Given the description of an element on the screen output the (x, y) to click on. 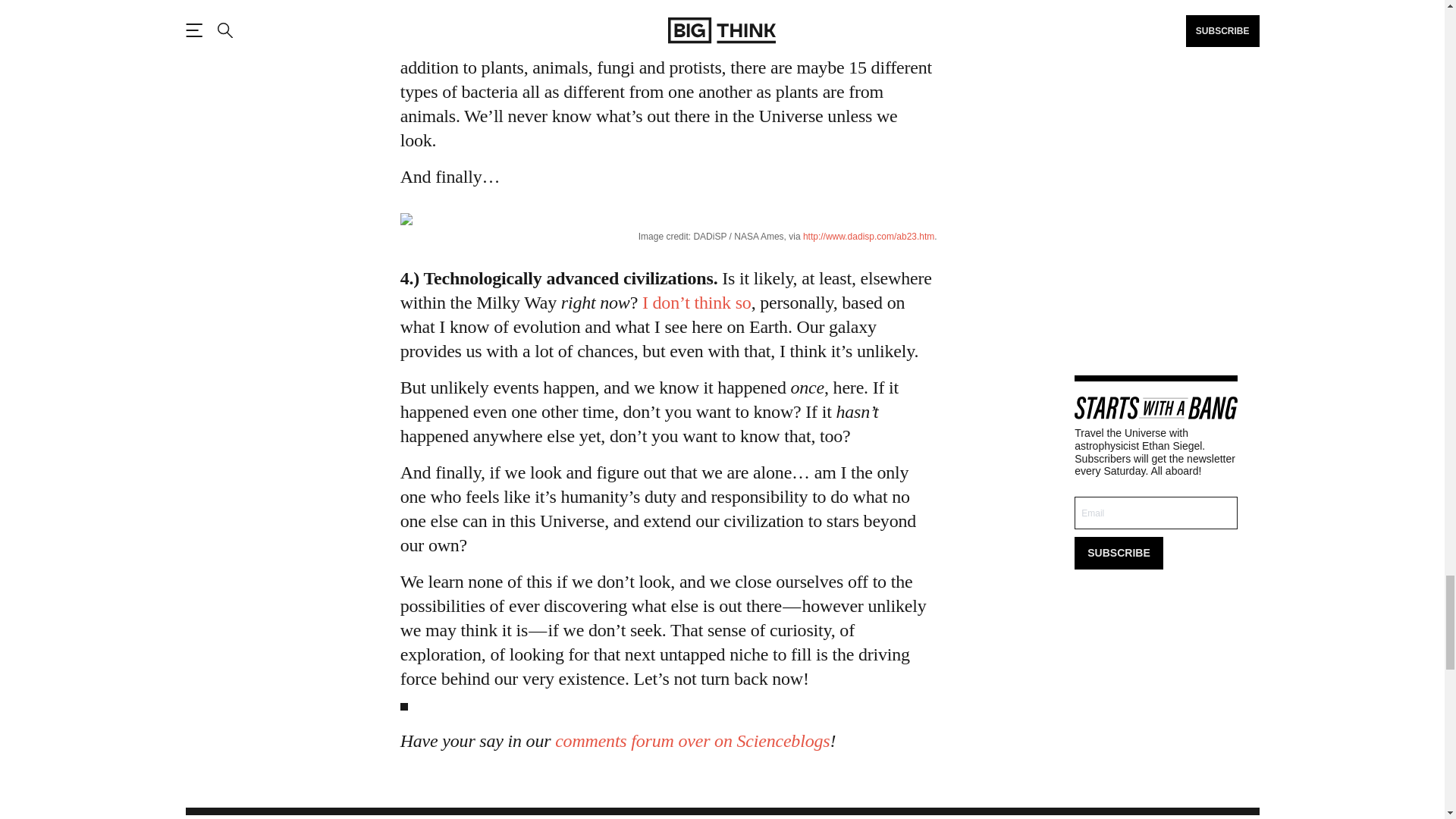
Subscribe (1117, 553)
